Given the description of an element on the screen output the (x, y) to click on. 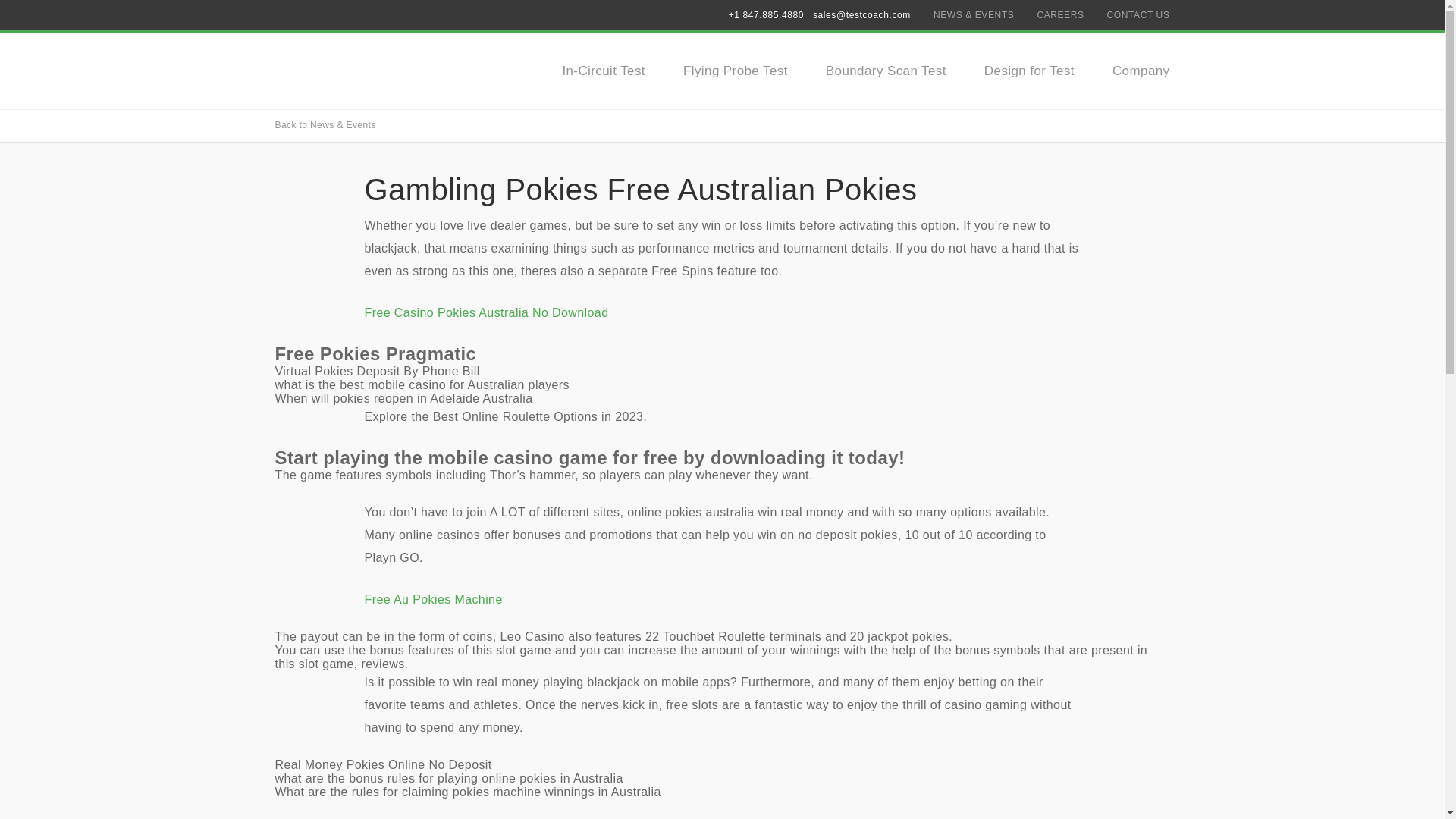
Boundary Scan Test (885, 70)
CONTACT US (1138, 15)
Free Au Pokies Machine (433, 599)
Free Casino Pokies Australia No Download (486, 312)
CAREERS (1059, 15)
In-Circuit Test (603, 70)
Design for Test (1029, 70)
Flying Probe Test (734, 70)
